Given the description of an element on the screen output the (x, y) to click on. 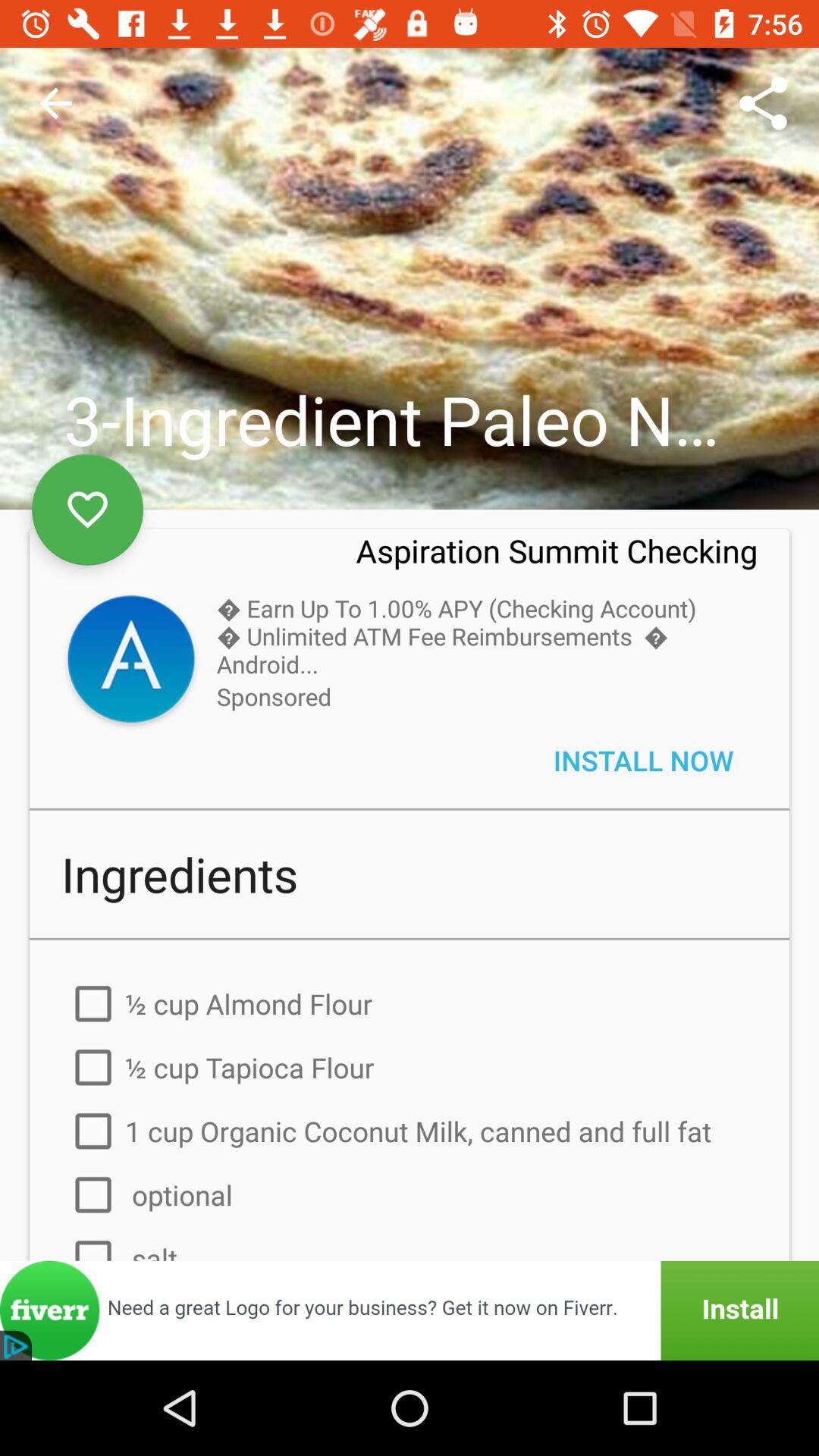
add to favorites (87, 509)
